Given the description of an element on the screen output the (x, y) to click on. 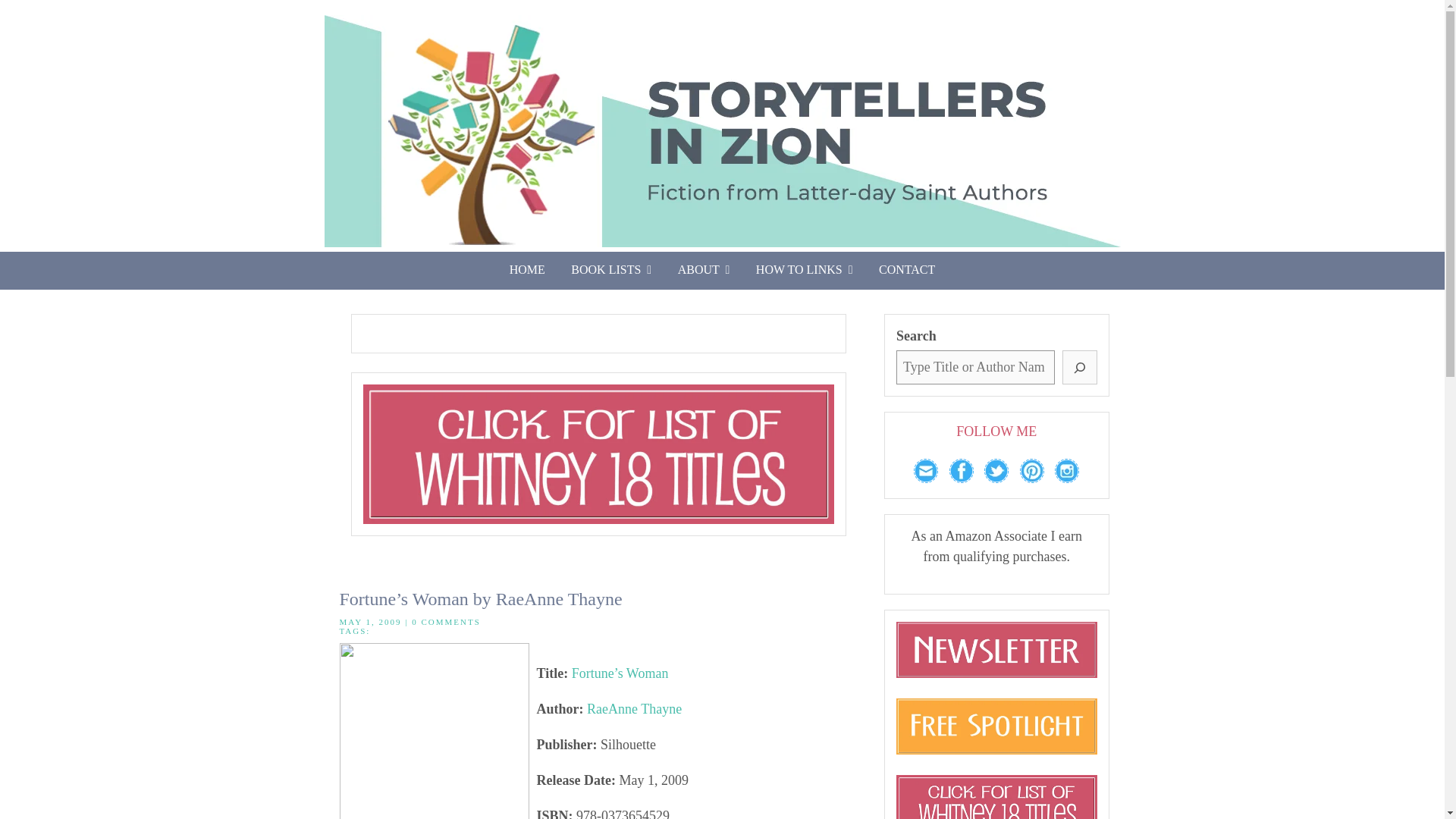
RaeAnne Thayne (633, 708)
HOME (526, 269)
0 COMMENTS (446, 621)
CONTACT (906, 269)
HOW TO LINKS   (804, 269)
ABOUT   (703, 269)
BOOK LISTS   (610, 269)
